Given the description of an element on the screen output the (x, y) to click on. 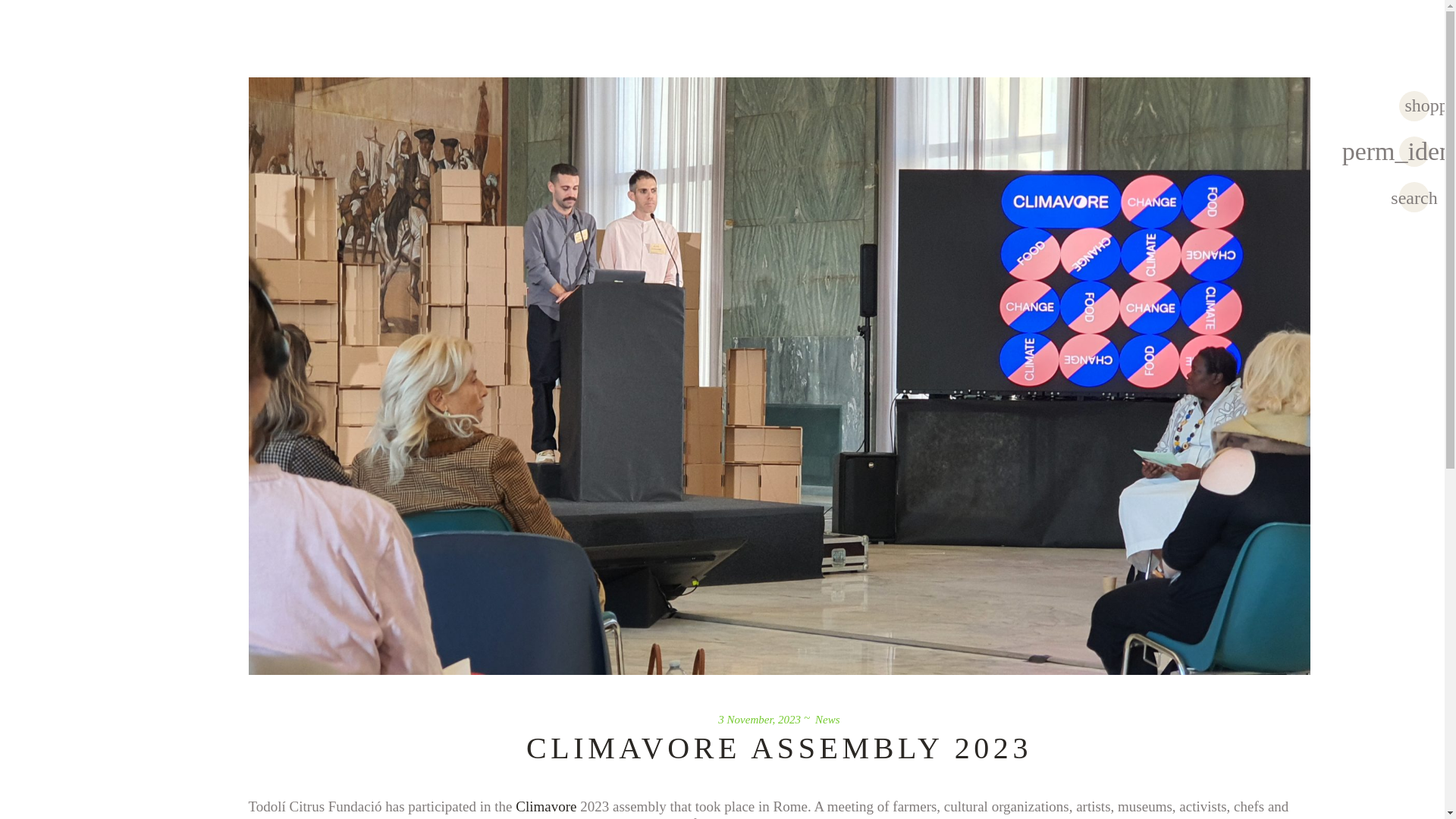
3 November, 2023 (758, 718)
Climavore (545, 805)
News (827, 718)
search (1414, 196)
